Given the description of an element on the screen output the (x, y) to click on. 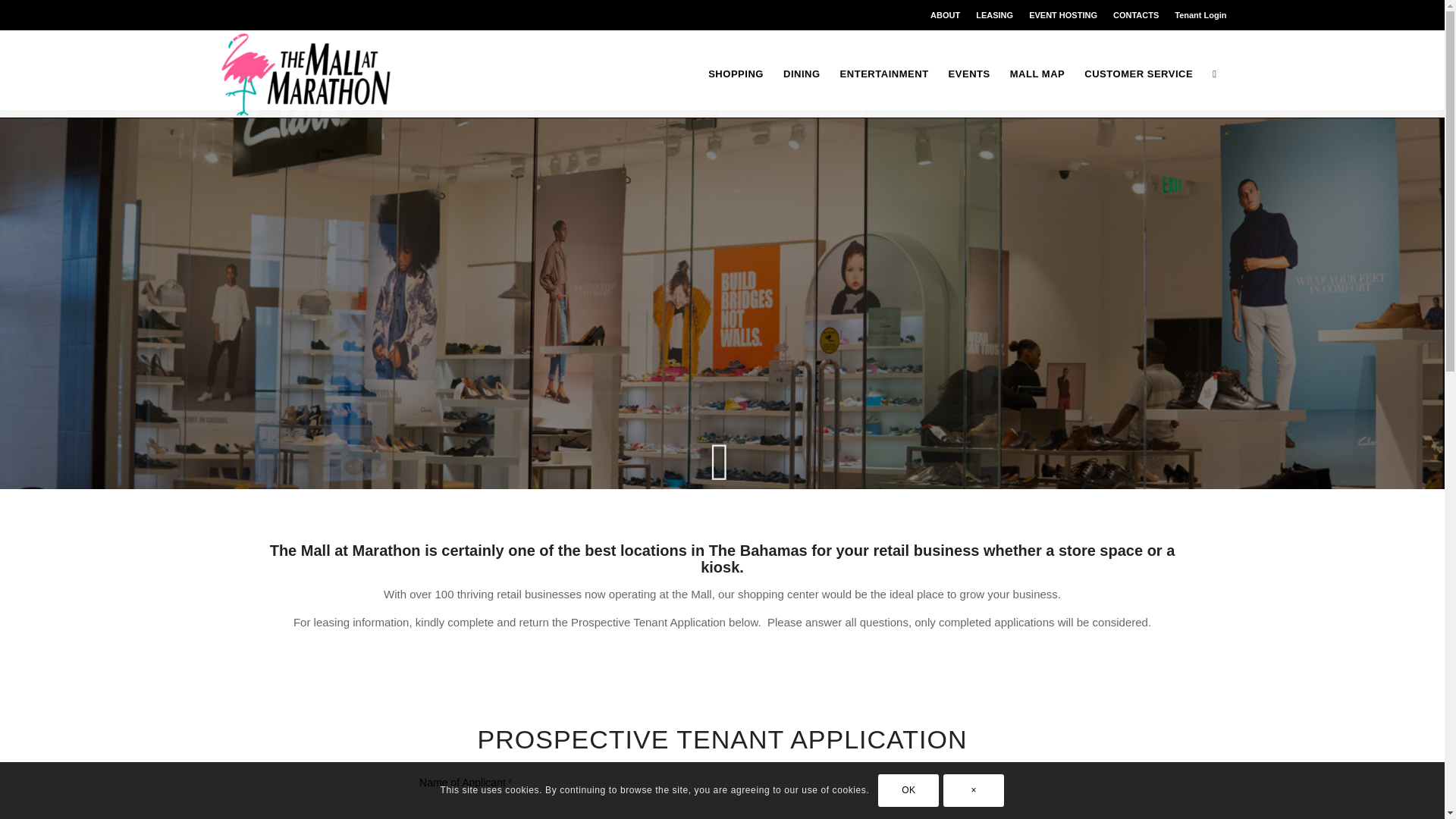
EVENTS (969, 73)
LEASING (994, 14)
CUSTOMER SERVICE (1138, 73)
OK (908, 789)
SHOPPING (735, 73)
MALL MAP (1037, 73)
Tenant Login (1199, 14)
DINING (801, 73)
ENTERTAINMENT (884, 73)
CONTACTS (1135, 14)
ABOUT (944, 14)
EVENT HOSTING (1063, 14)
